Given the description of an element on the screen output the (x, y) to click on. 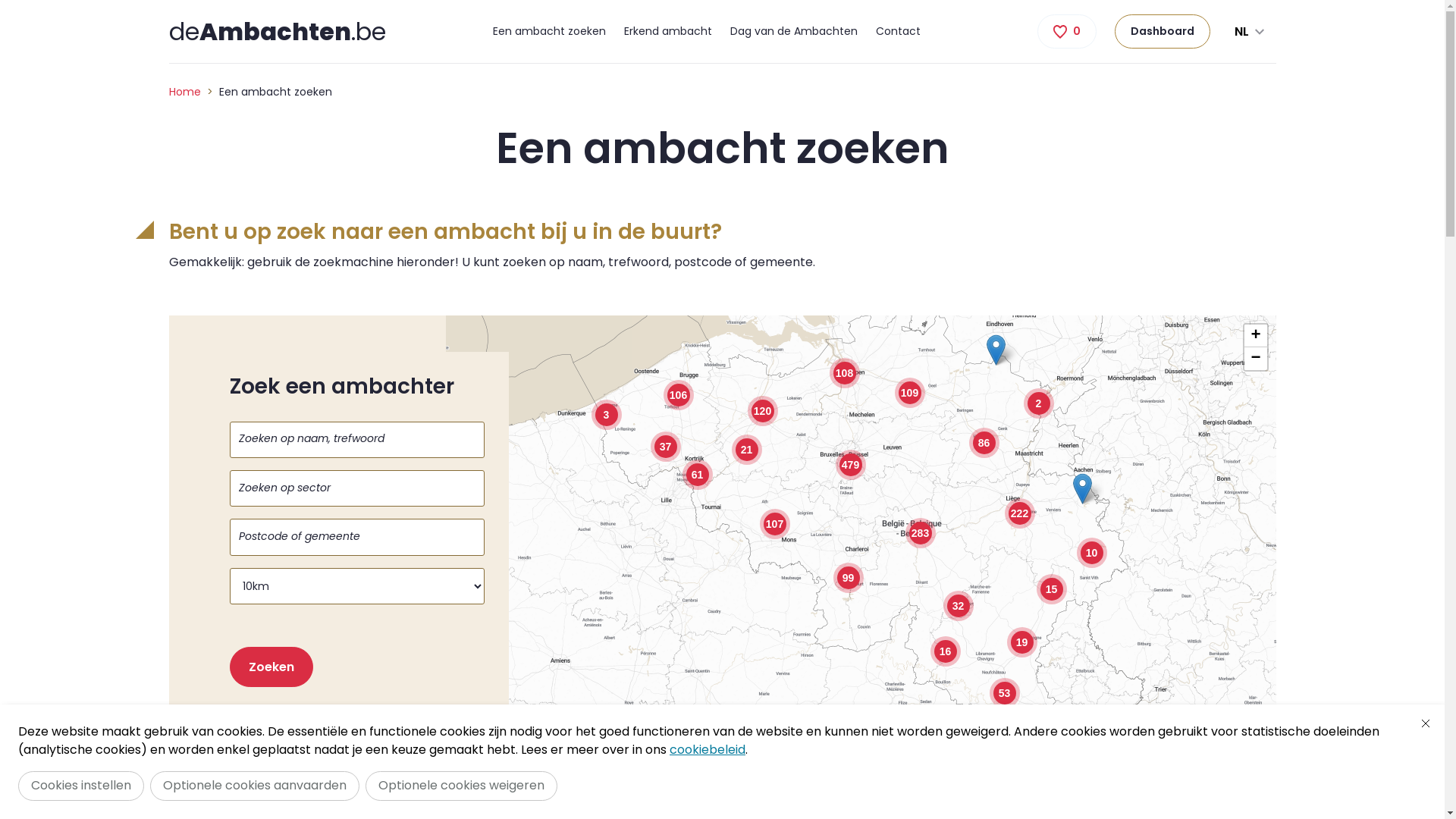
Erkend ambacht Element type: text (668, 31)
Dashboard Element type: text (1162, 31)
NL Element type: text (1249, 31)
Optionele cookies weigeren Element type: text (461, 785)
Optionele cookies aanvaarden Element type: text (254, 785)
Cookies instellen Element type: text (81, 785)
0 Element type: text (1066, 31)
Dag van de Ambachten Element type: text (793, 31)
deAmbachten.be Element type: text (276, 31)
Sluiten Element type: hover (1425, 723)
cookiebeleid Element type: text (707, 749)
Zoeken Element type: text (270, 666)
Home Element type: text (184, 91)
+ Element type: text (1254, 335)
Overslaan en naar de inhoud gaan Element type: text (7, 4)
Leaflet Element type: text (1074, 740)
Contact Element type: text (897, 31)
Een ambacht zoeken Element type: text (549, 31)
